Given the description of an element on the screen output the (x, y) to click on. 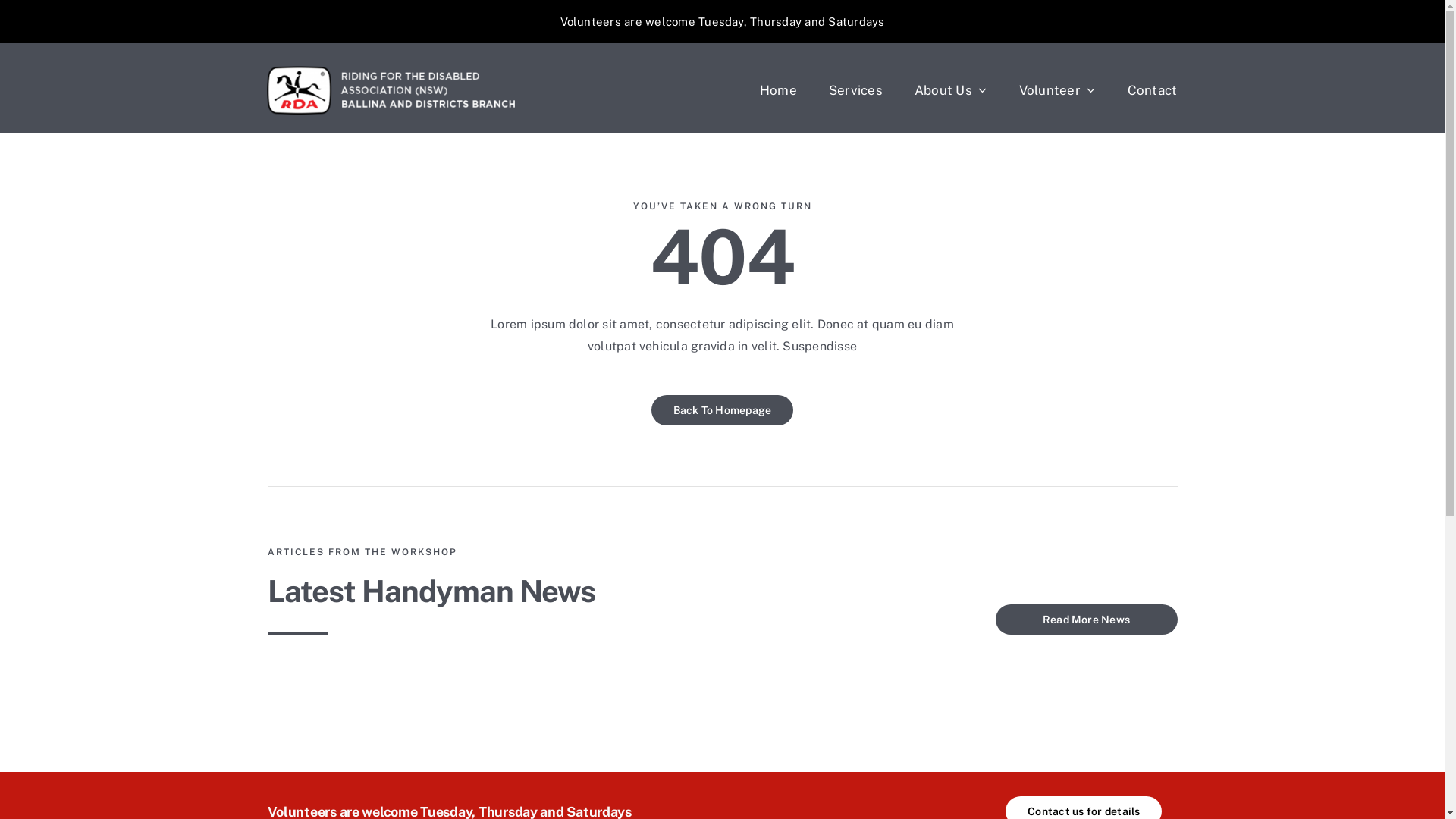
Home Element type: text (778, 90)
Back To Homepage Element type: text (722, 410)
Read More News Element type: text (1085, 619)
Services Element type: text (855, 90)
Volunteer Element type: text (1057, 90)
About Us Element type: text (950, 90)
Contact Element type: text (1152, 90)
